Given the description of an element on the screen output the (x, y) to click on. 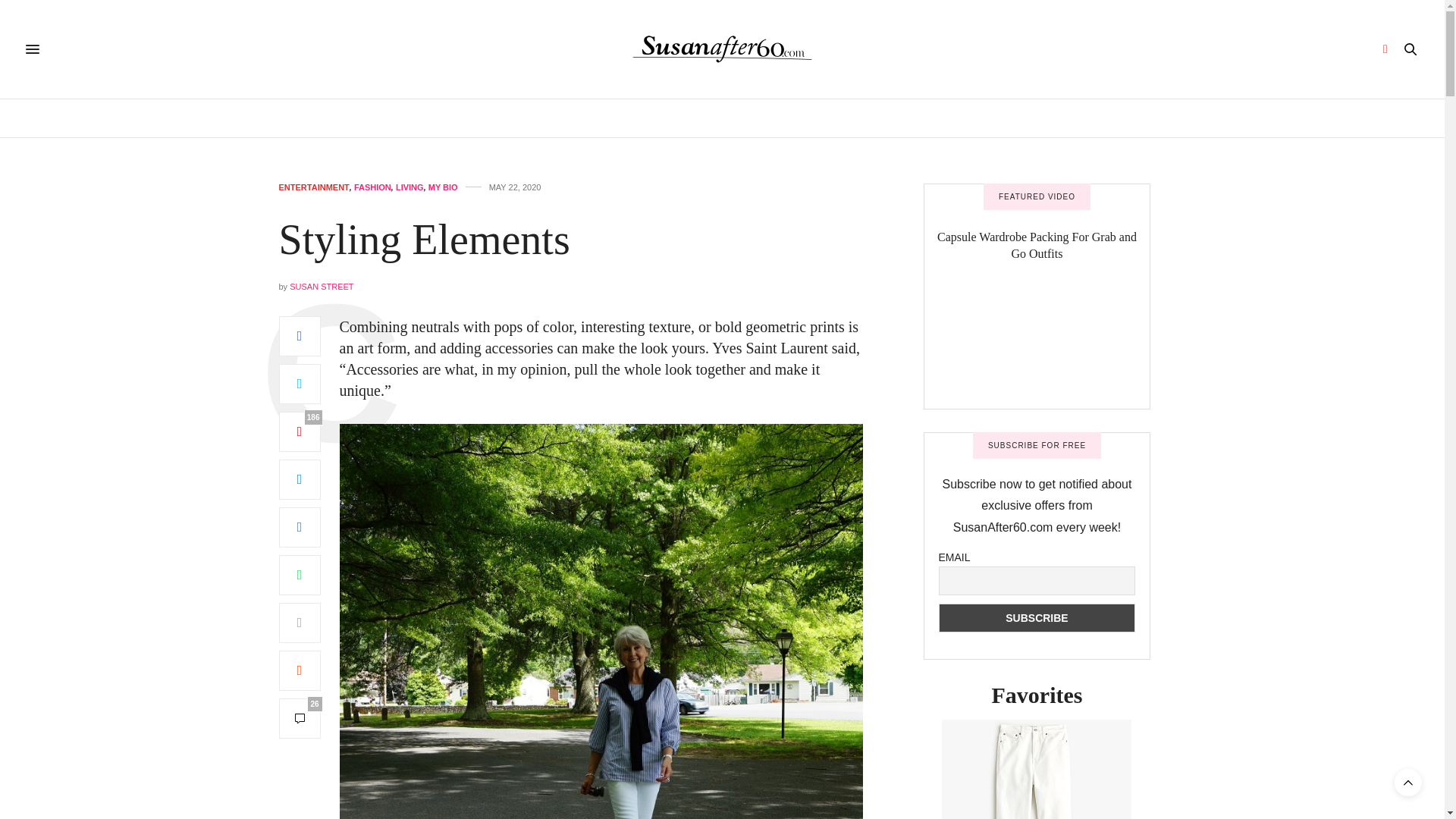
26 (299, 718)
Posts by Susan Street (321, 286)
186 (299, 431)
BIOGRAPHY (472, 118)
Subscribe (1037, 617)
FASHION (834, 118)
LIVING (409, 187)
Capsule Wardrobe Packing For Grab And Go Outfits (1036, 344)
ENTERTAINMENT (747, 118)
MY BIO (443, 187)
ENTERTAINMENT (314, 187)
OUTFITS (951, 118)
CONTACT (1018, 118)
SusanAfter60.com (721, 49)
HEALTH (544, 118)
